Given the description of an element on the screen output the (x, y) to click on. 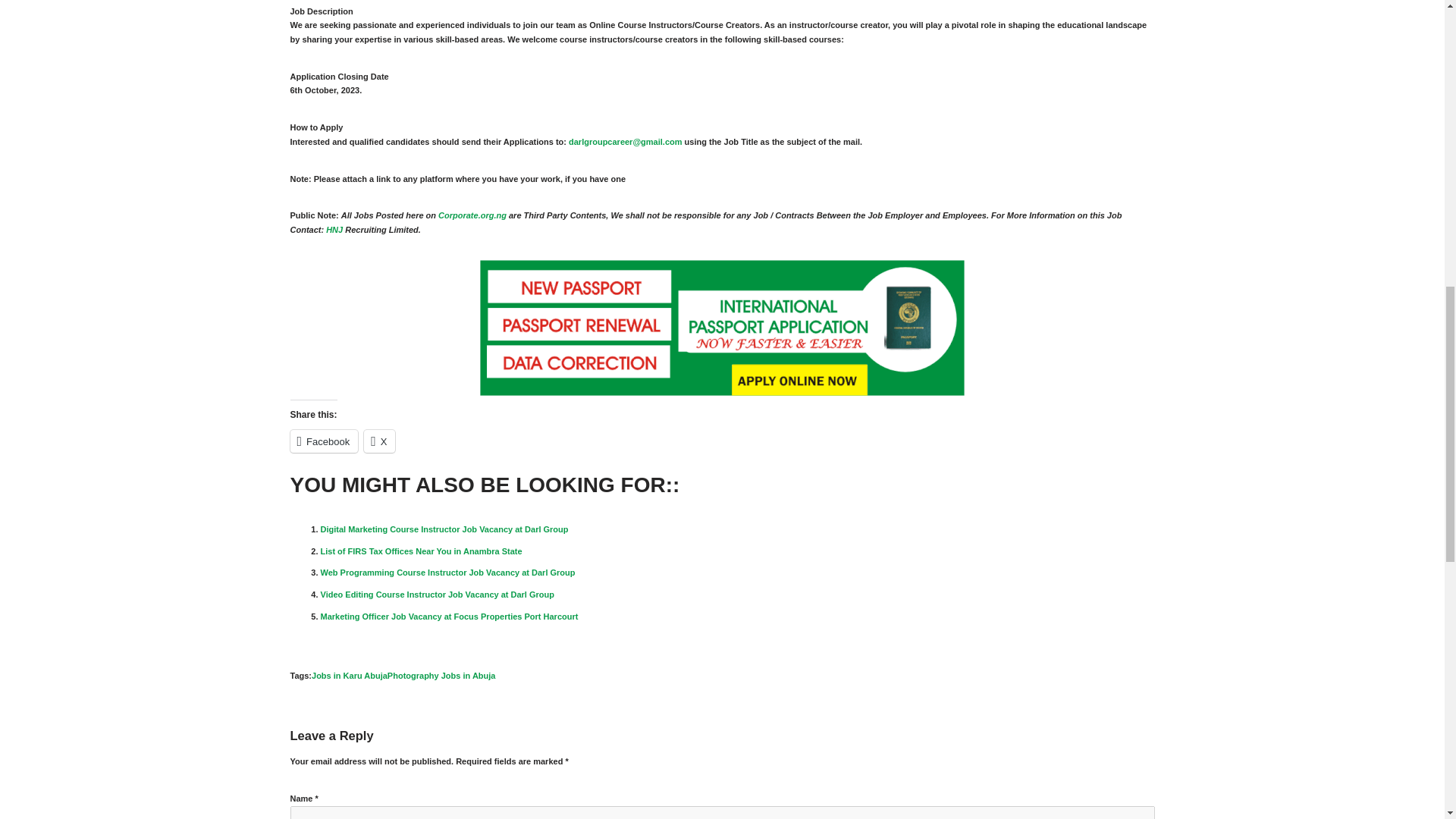
Facebook (323, 440)
Jobs in Karu Abuja (349, 675)
Photography Jobs in Abuja (441, 675)
Click to share on Facebook (323, 440)
List of FIRS Tax Offices Near You in Anambra State (420, 551)
Video Editing Course Instructor Job Vacancy at Darl Group (436, 593)
X (379, 440)
Photography Jobs in Abuja (441, 675)
Corporate.org.ng (473, 215)
List of FIRS Tax Offices Near You in Anambra State (420, 551)
Web Programming Course Instructor Job Vacancy at Darl Group (447, 572)
Click to share on X (379, 440)
Web Programming Course Instructor Job Vacancy at Darl Group (447, 572)
